Given the description of an element on the screen output the (x, y) to click on. 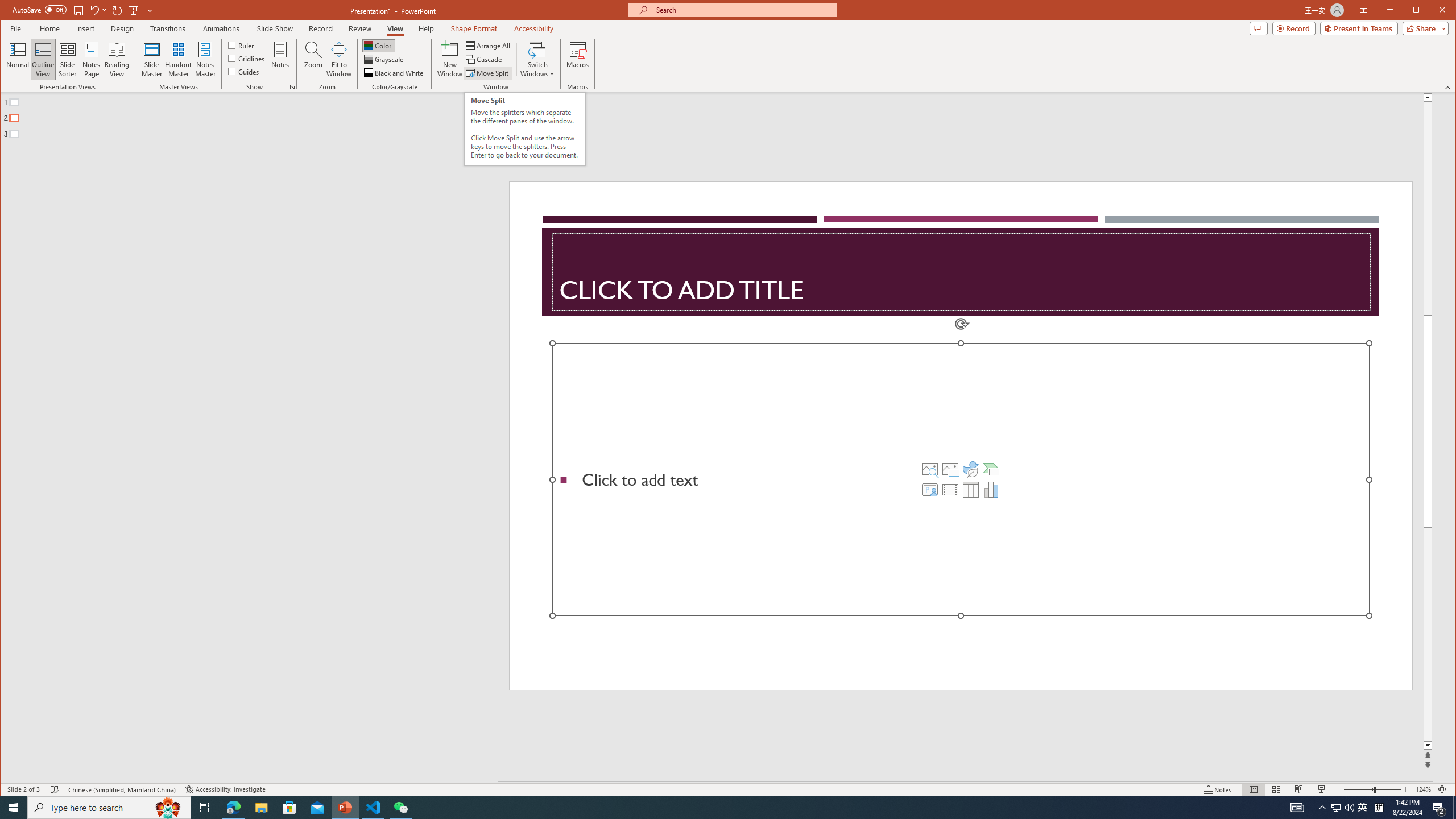
Color (378, 45)
New Window (450, 59)
Black and White (394, 72)
Grid Settings... (292, 86)
Notes Master (204, 59)
Cascade (484, 59)
